Given the description of an element on the screen output the (x, y) to click on. 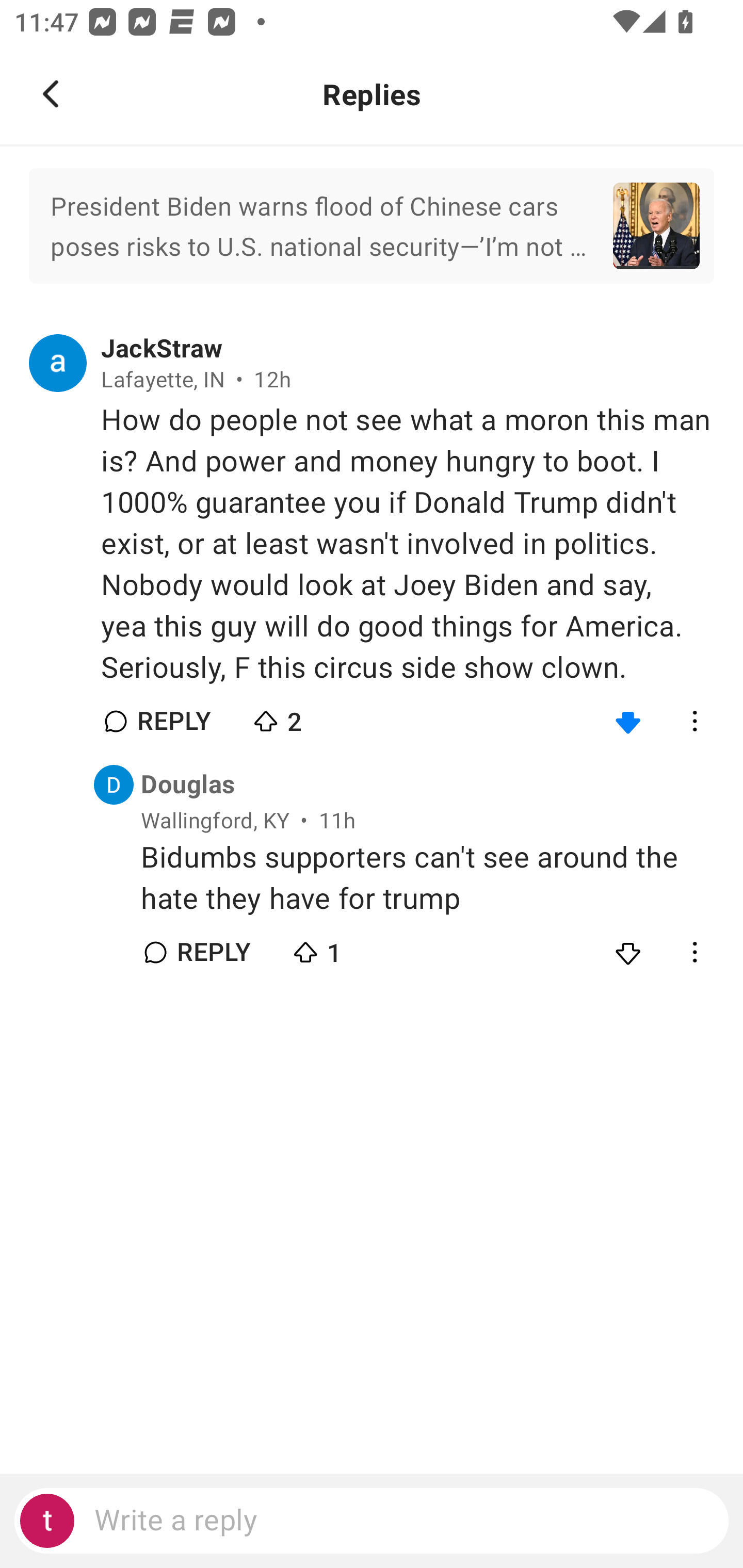
Navigate up (50, 93)
JackStraw (161, 348)
2 (320, 717)
REPLY (173, 721)
Douglas (188, 784)
1 (360, 947)
REPLY (213, 952)
Write a reply (371, 1520)
